Given the description of an element on the screen output the (x, y) to click on. 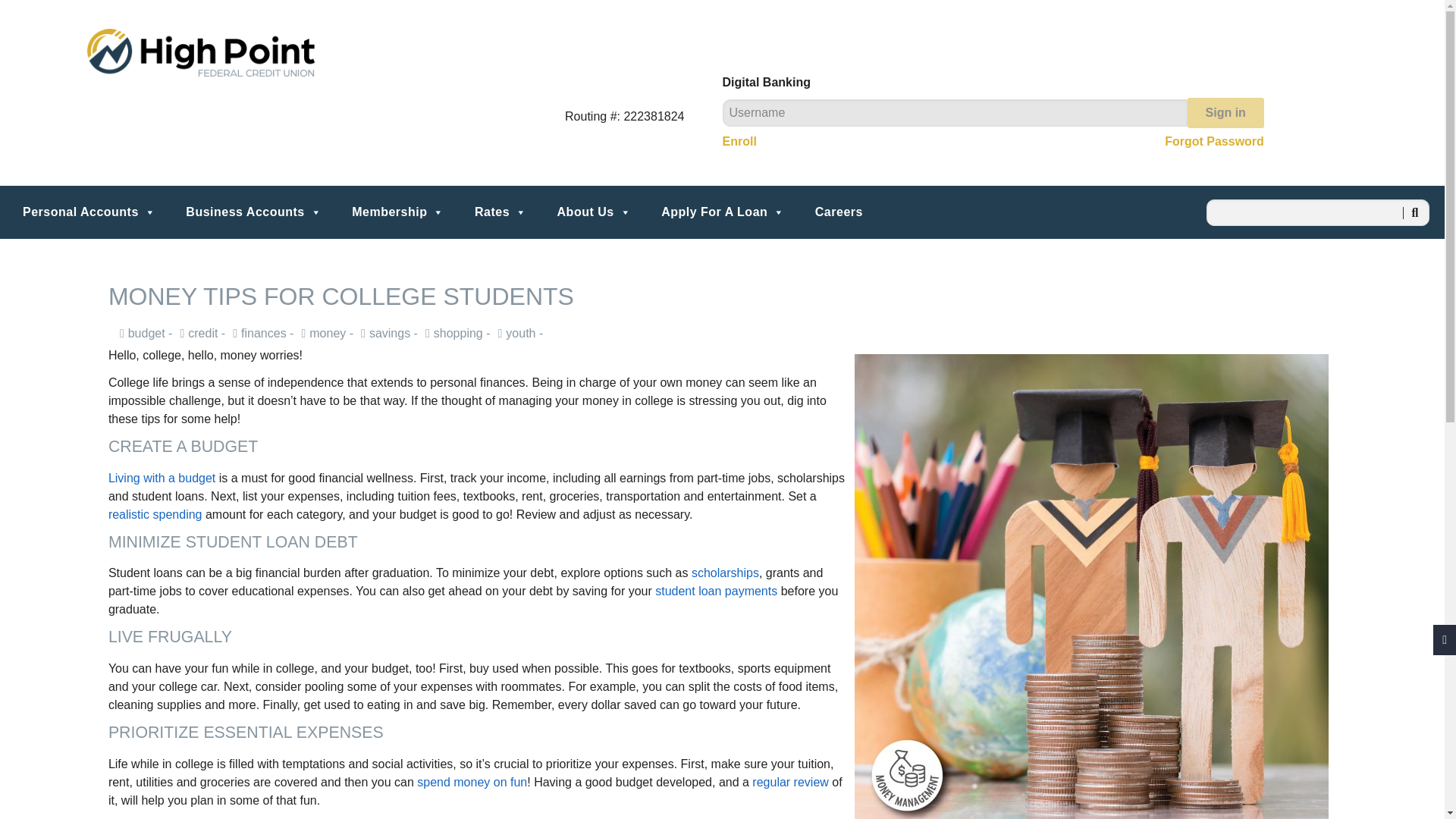
Forgot Password (1213, 141)
Sign in (1225, 112)
Business Accounts (253, 212)
Enroll (738, 141)
Personal Accounts (88, 212)
Membership (397, 212)
